Given the description of an element on the screen output the (x, y) to click on. 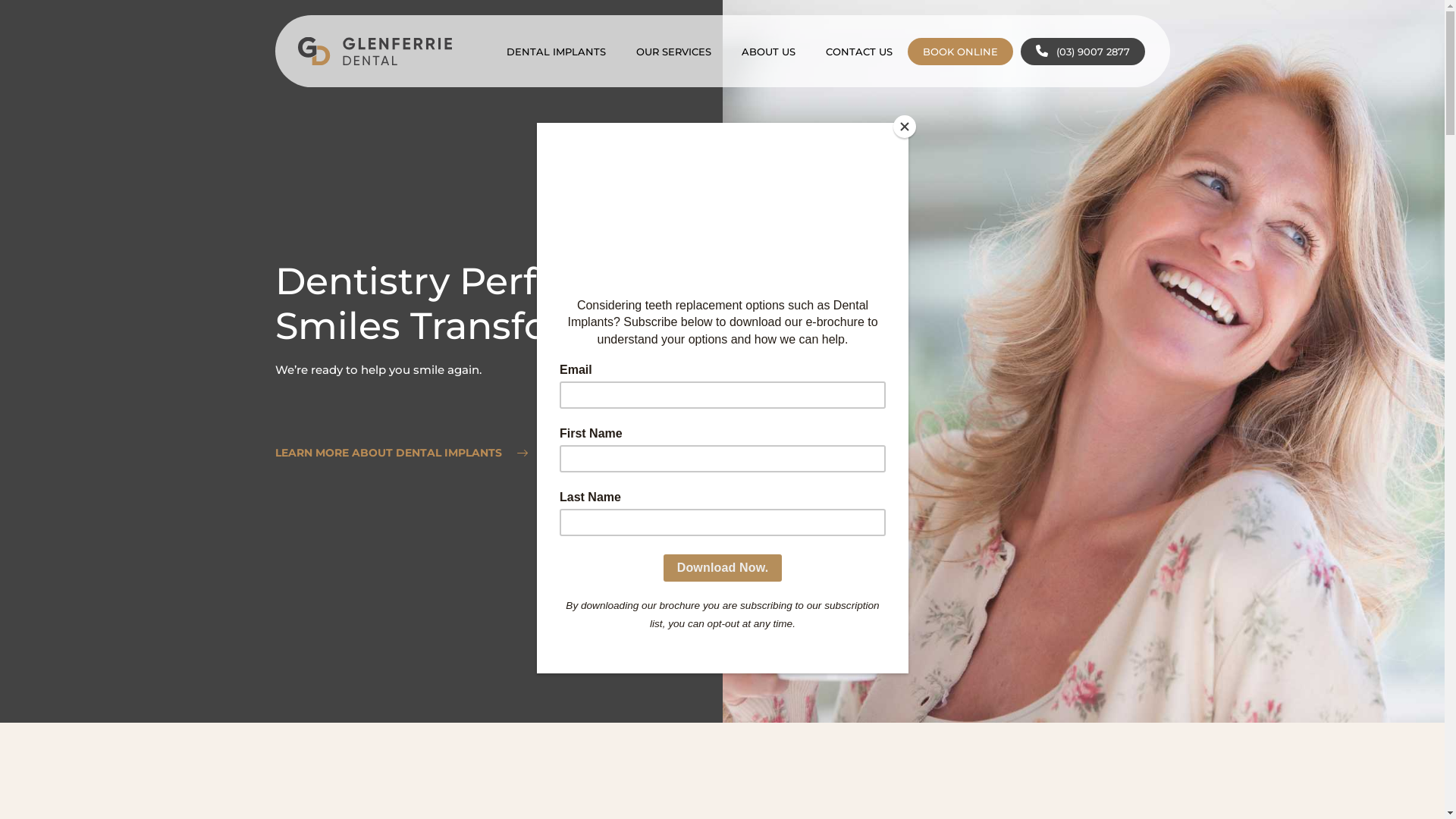
BOOK ONLINE Element type: text (959, 51)
DENTAL IMPLANTS Element type: text (556, 51)
OUR SERVICES Element type: text (672, 51)
CONTACT US Element type: text (857, 51)
LEARN MORE ABOUT DENTAL IMPLANTS Element type: text (400, 452)
ABOUT US Element type: text (768, 51)
(03) 9007 2877 Element type: text (1082, 51)
